Given the description of an element on the screen output the (x, y) to click on. 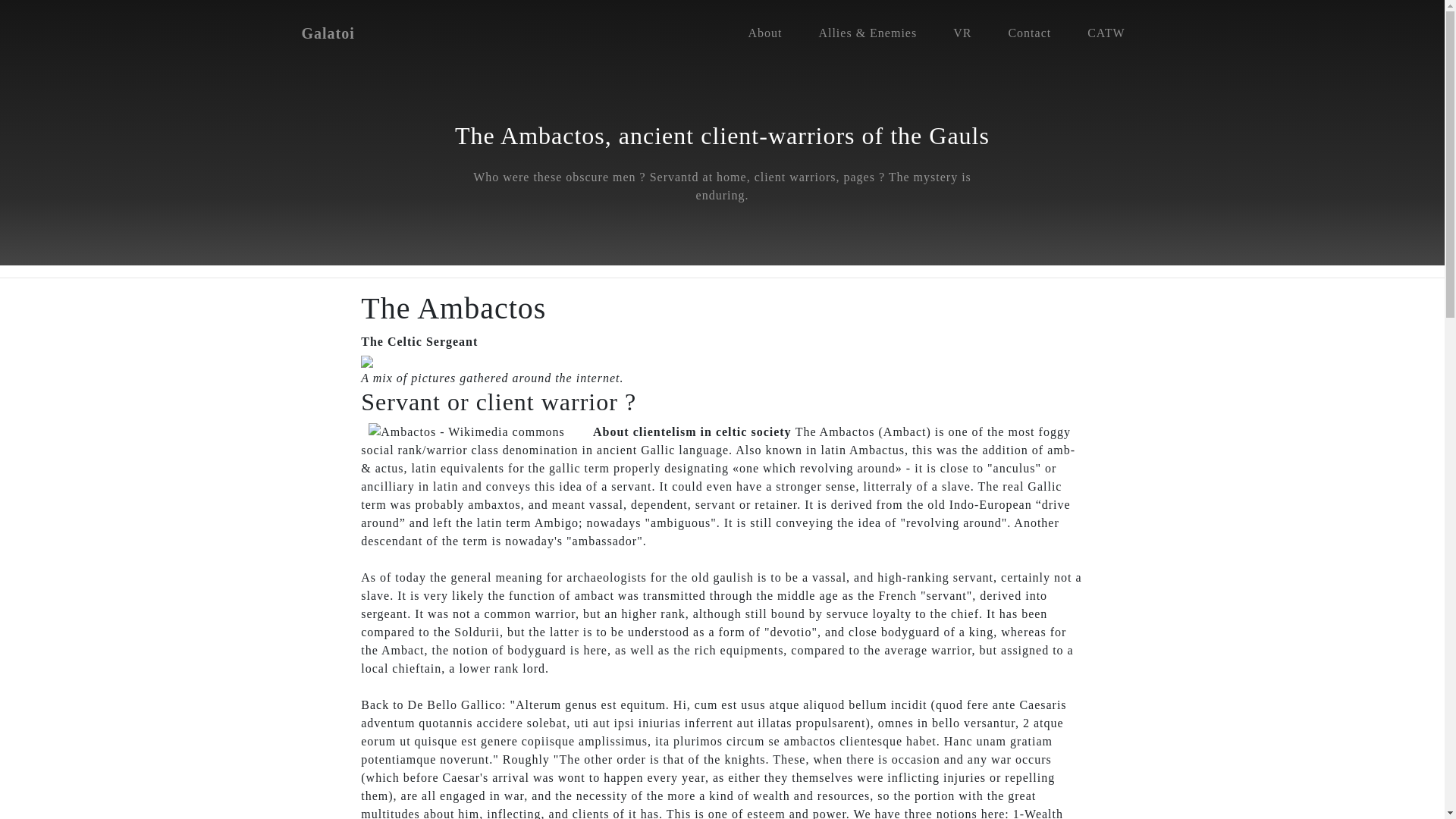
About (764, 33)
About (764, 33)
Galatoi (328, 32)
CATW (1105, 33)
Galatoi (328, 32)
Contact (1029, 33)
CATW (1105, 33)
Contact (1029, 33)
